Given the description of an element on the screen output the (x, y) to click on. 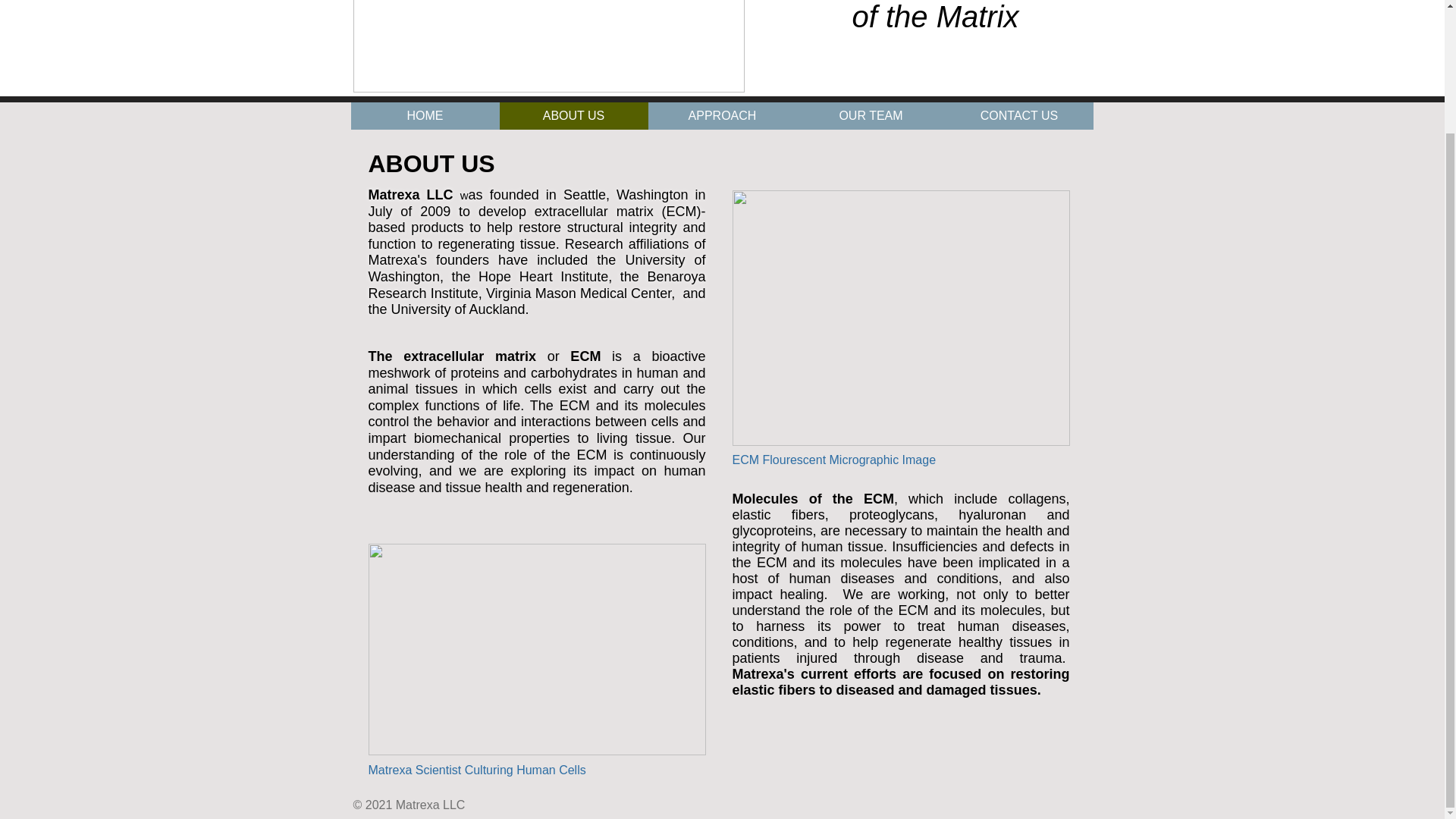
CONTACT US (1018, 115)
matrix-biology-program-leading-image.jpg (901, 317)
OUR TEAM (870, 115)
ABOUT US (573, 115)
APPROACH (721, 115)
HOME (424, 115)
